Given the description of an element on the screen output the (x, y) to click on. 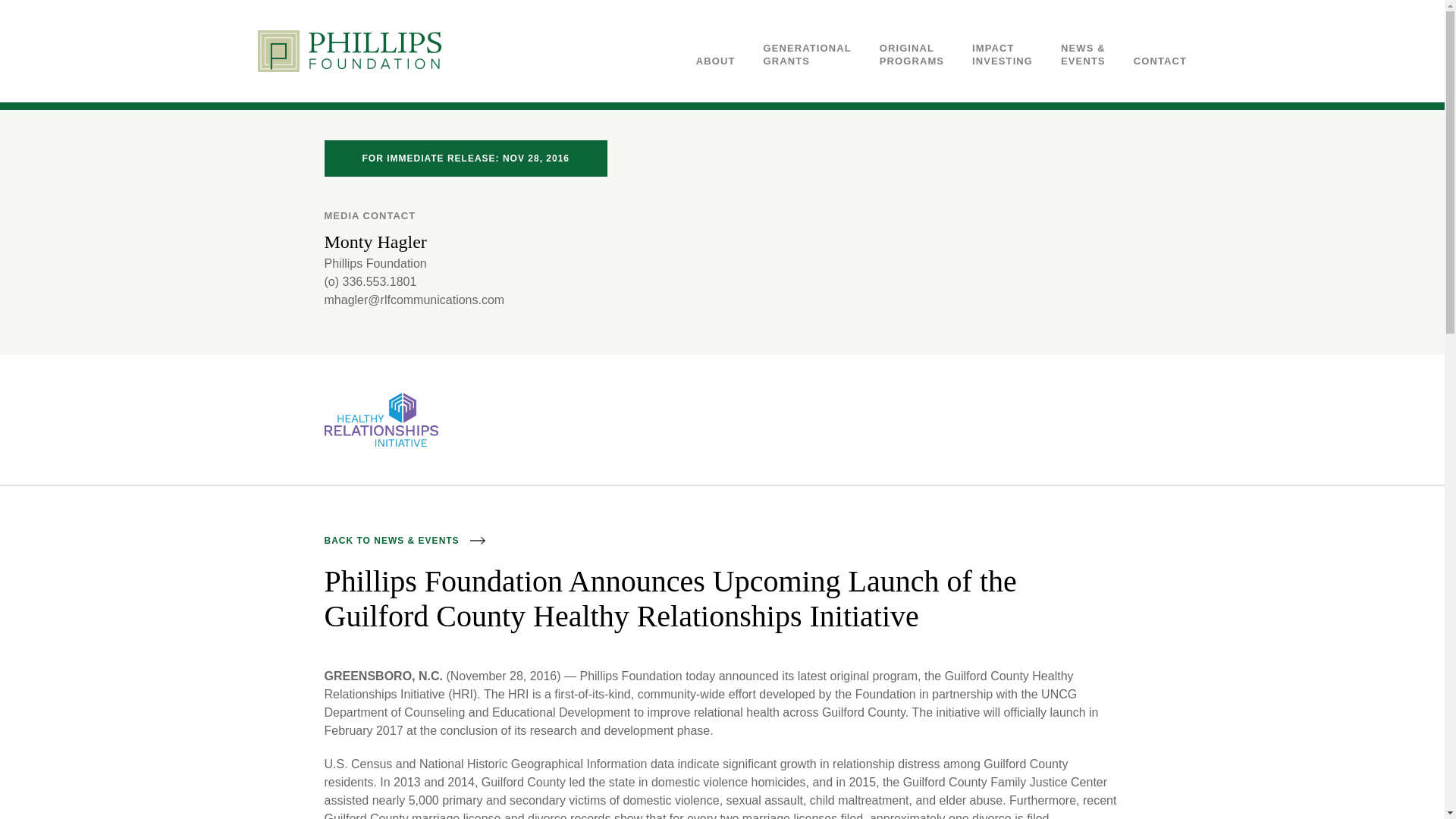
CONTACT (1160, 60)
Contact (911, 54)
ABOUT (1002, 54)
About (1160, 60)
